Given the description of an element on the screen output the (x, y) to click on. 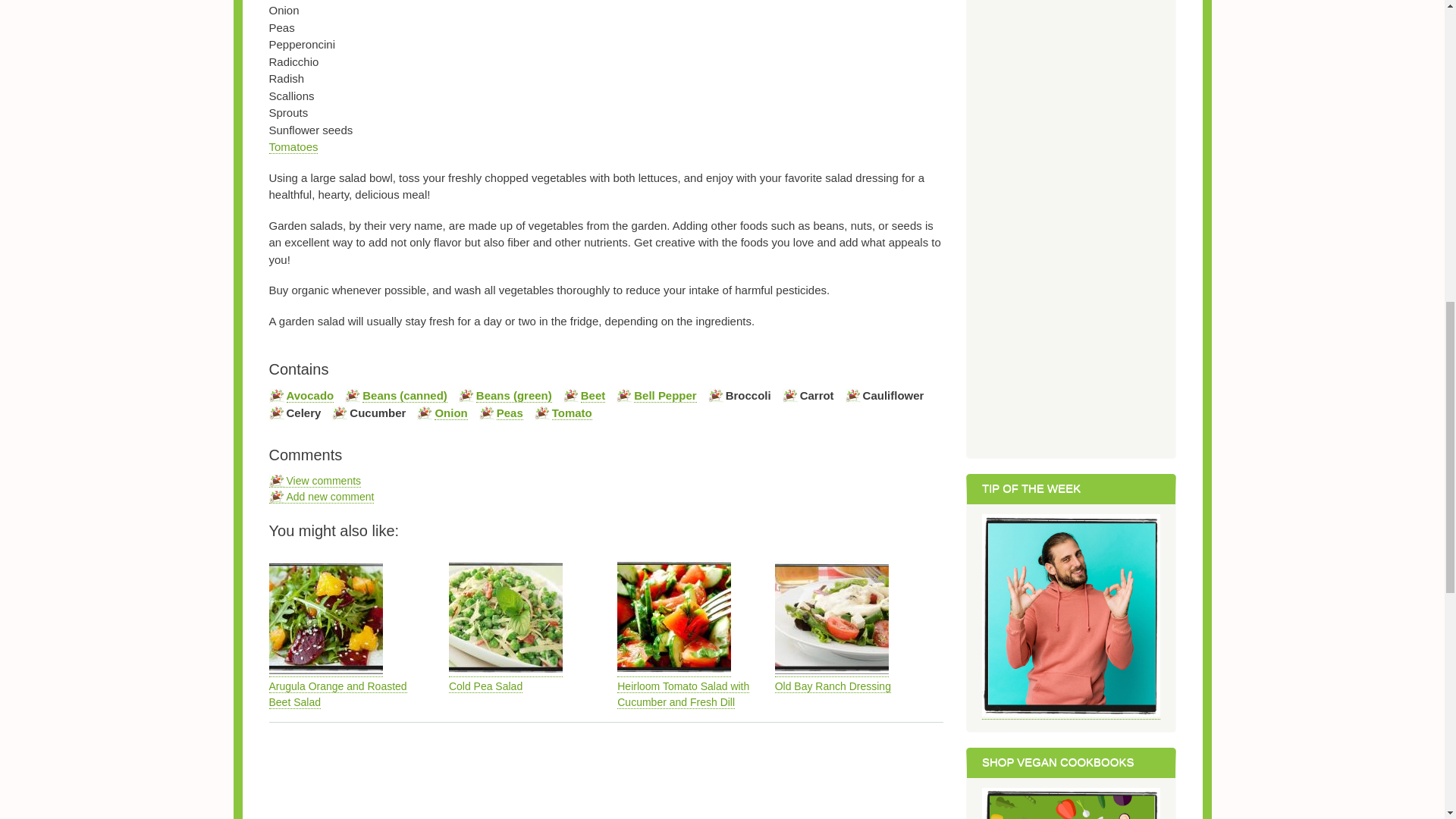
Bell Pepper (664, 395)
Tomato (571, 413)
Add new comment (320, 496)
Tomatoes (292, 146)
Onion (450, 413)
Peas (509, 413)
Beet (592, 395)
View comments (314, 481)
Avocado (310, 395)
